Given the description of an element on the screen output the (x, y) to click on. 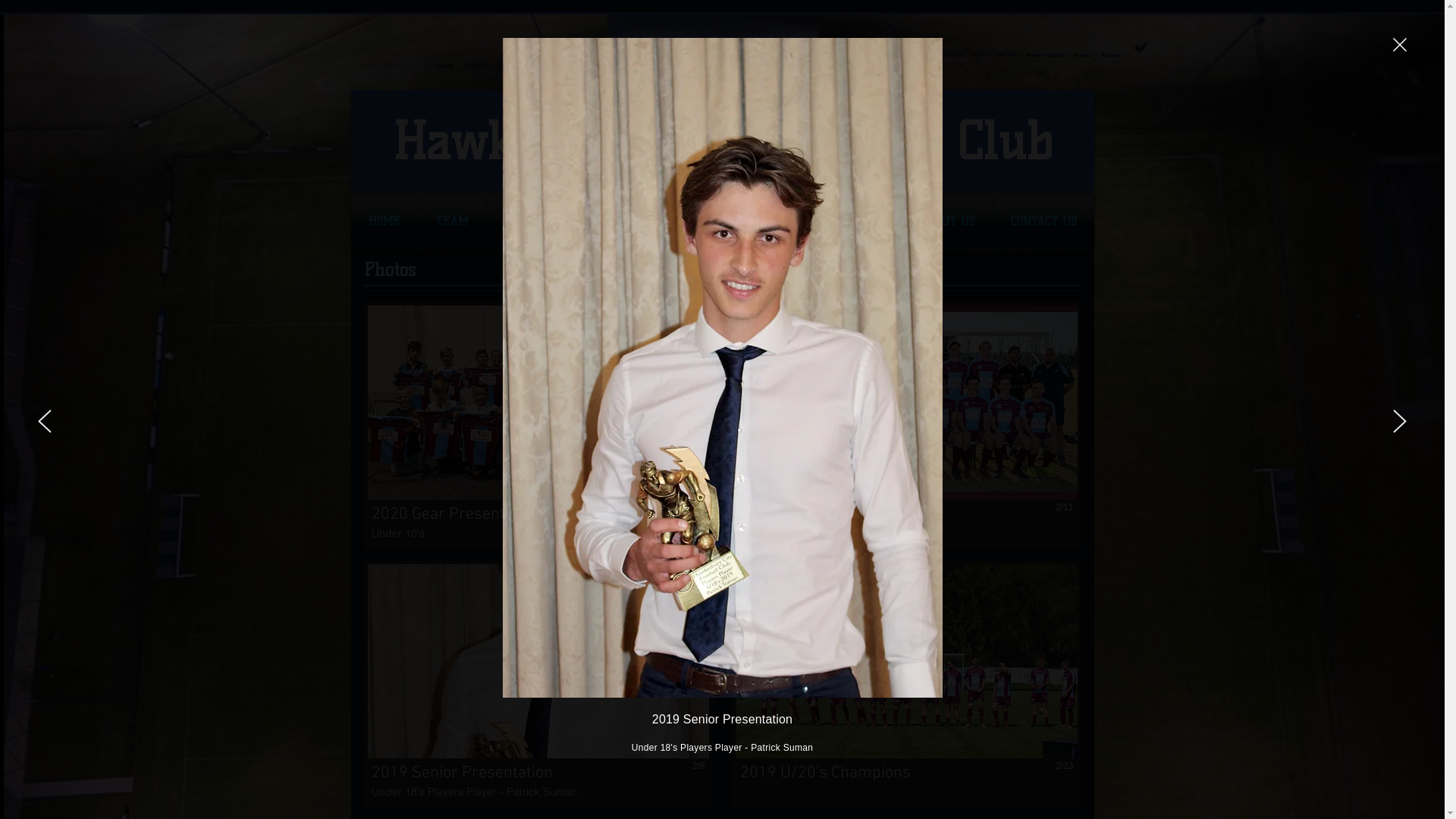
PHOTOS & VIDEO Element type: text (838, 220)
ABOUT US Element type: text (947, 220)
TEAM Element type: text (452, 220)
HOME Element type: text (383, 220)
SKILLS ACADEMY Element type: text (708, 220)
SCHEDULE & RESULTS Element type: text (564, 220)
CONTACT US Element type: text (1043, 220)
